Given the description of an element on the screen output the (x, y) to click on. 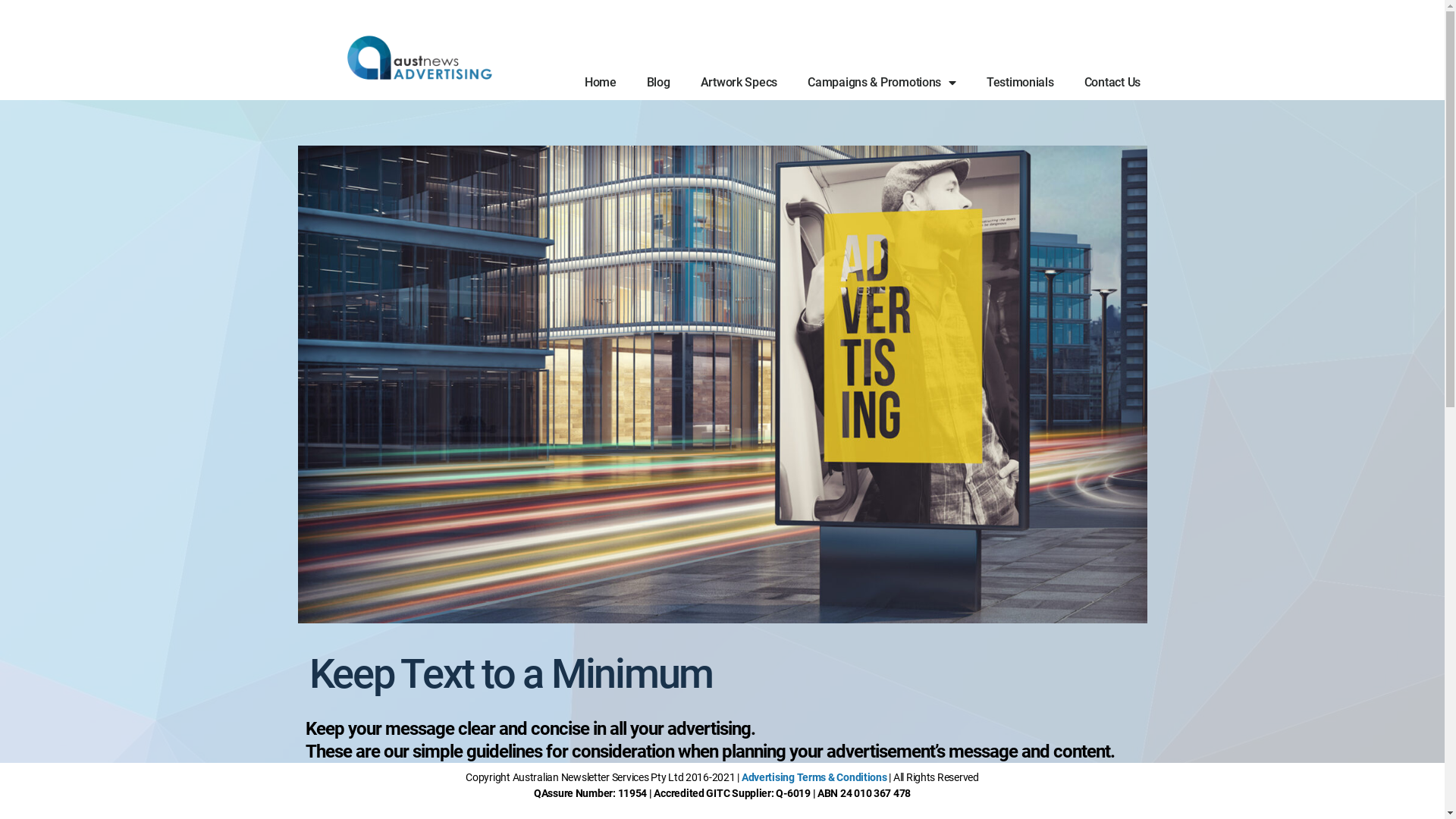
Artwork Specs Element type: text (739, 82)
Blog Element type: text (658, 82)
Contact Us Element type: text (1112, 82)
Advertising Terms & Conditions Element type: text (814, 777)
Campaigns & Promotions Element type: text (881, 82)
Testimonials Element type: text (1020, 82)
Home Element type: text (600, 82)
